Given the description of an element on the screen output the (x, y) to click on. 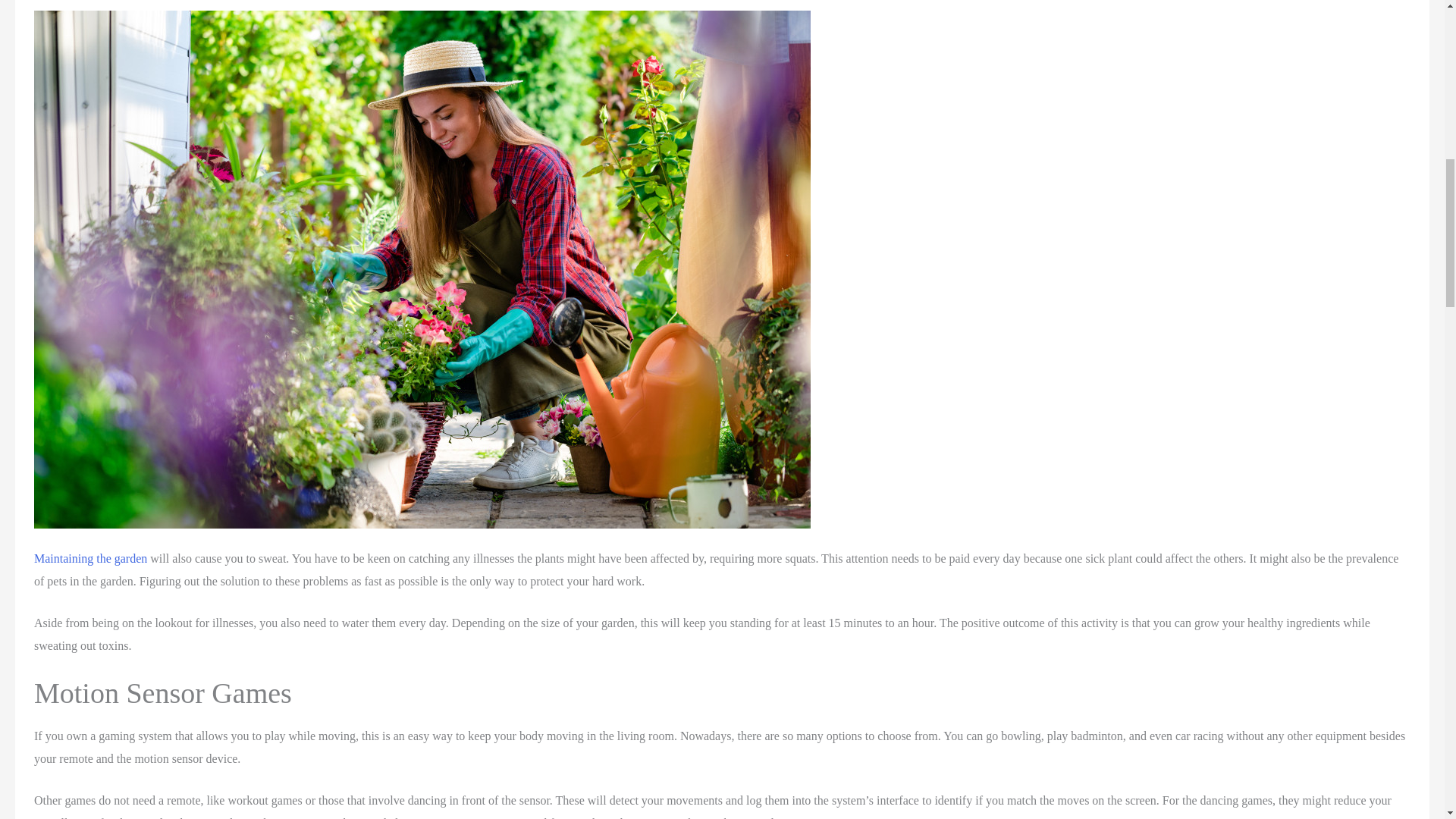
Maintaining the garden (90, 558)
